Given the description of an element on the screen output the (x, y) to click on. 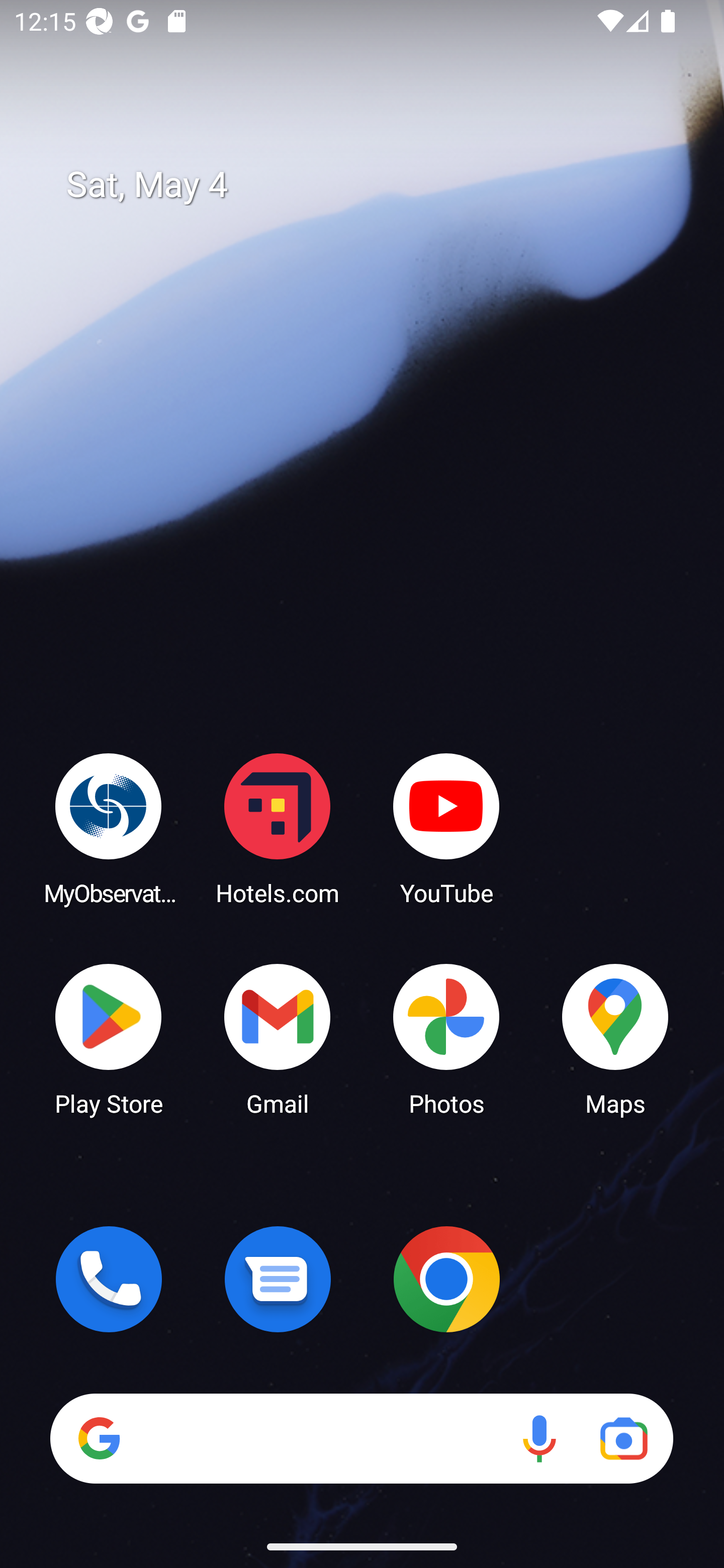
Sat, May 4 (375, 184)
MyObservatory (108, 828)
Hotels.com (277, 828)
YouTube (445, 828)
Play Store (108, 1038)
Gmail (277, 1038)
Photos (445, 1038)
Maps (615, 1038)
Phone (108, 1279)
Messages (277, 1279)
Chrome (446, 1279)
Search Voice search Google Lens (361, 1438)
Voice search (539, 1438)
Google Lens (623, 1438)
